Given the description of an element on the screen output the (x, y) to click on. 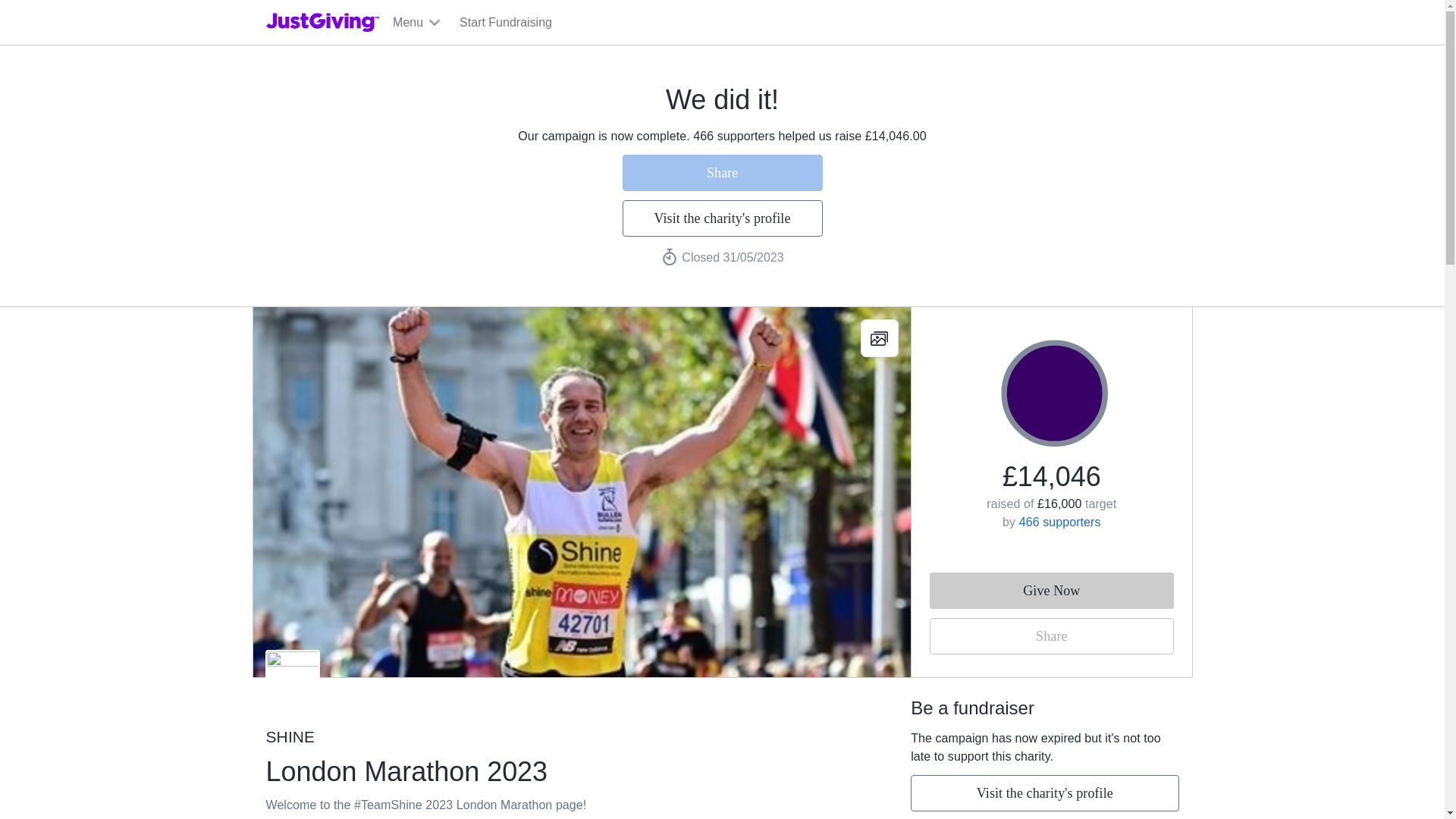
SHINE (541, 736)
Menu (416, 22)
Search (919, 57)
Share (721, 172)
Start Fundraising (505, 22)
466 supporters (1059, 521)
Visit the charity's profile (1044, 792)
Share (1051, 636)
Visit the charity's profile (721, 217)
